Given the description of an element on the screen output the (x, y) to click on. 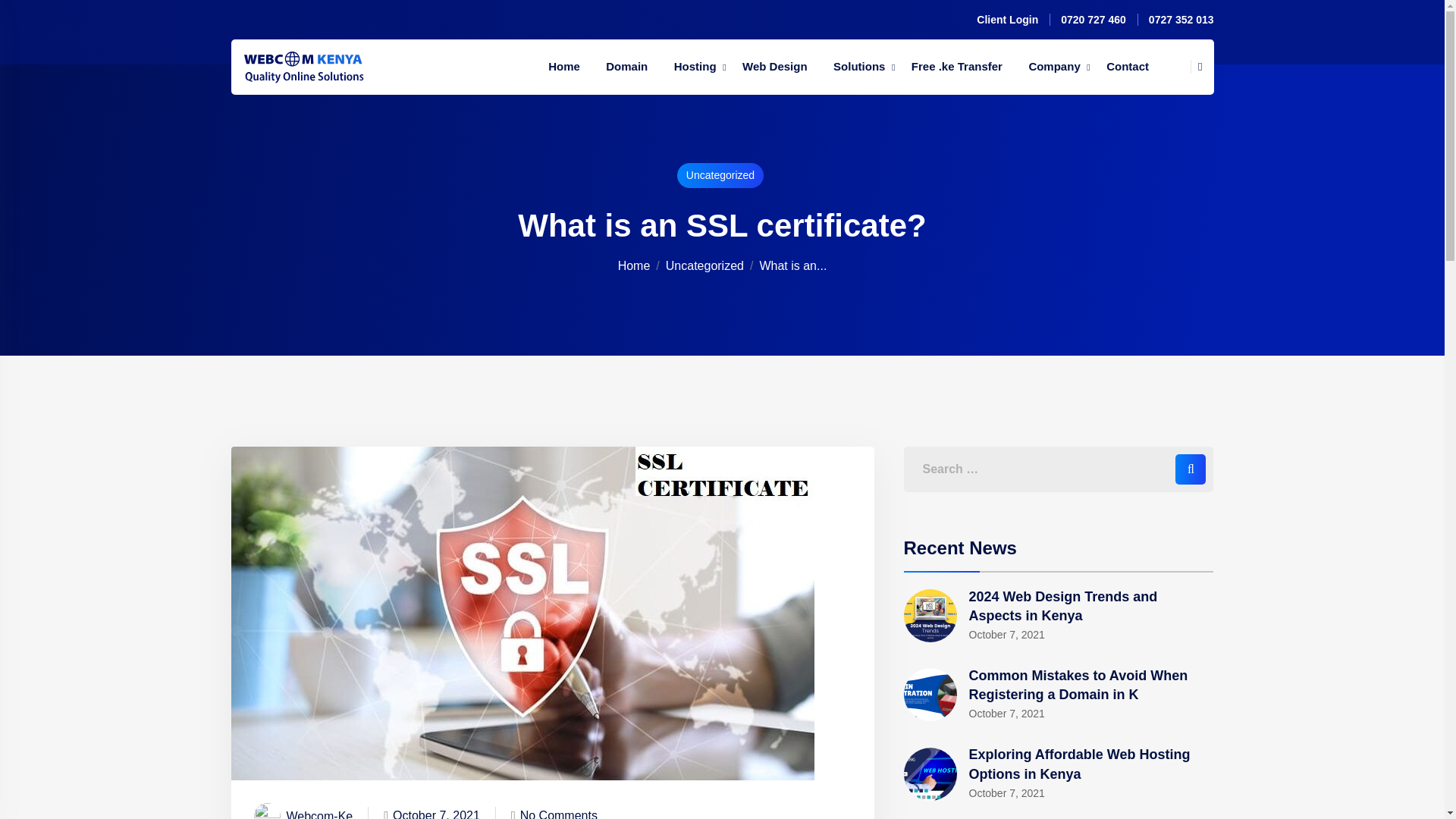
Hosting (695, 67)
Contact (1127, 67)
0720 727 460 (1093, 19)
Free .ke Transfer (956, 67)
0727 352 013 (1181, 19)
Domain (626, 67)
Client Login (1007, 19)
Contact (1127, 67)
Solutions (859, 67)
Home (564, 67)
Domain (626, 67)
Web Design (774, 67)
Hosting (695, 67)
Solutions (859, 67)
Web Design (774, 67)
